Given the description of an element on the screen output the (x, y) to click on. 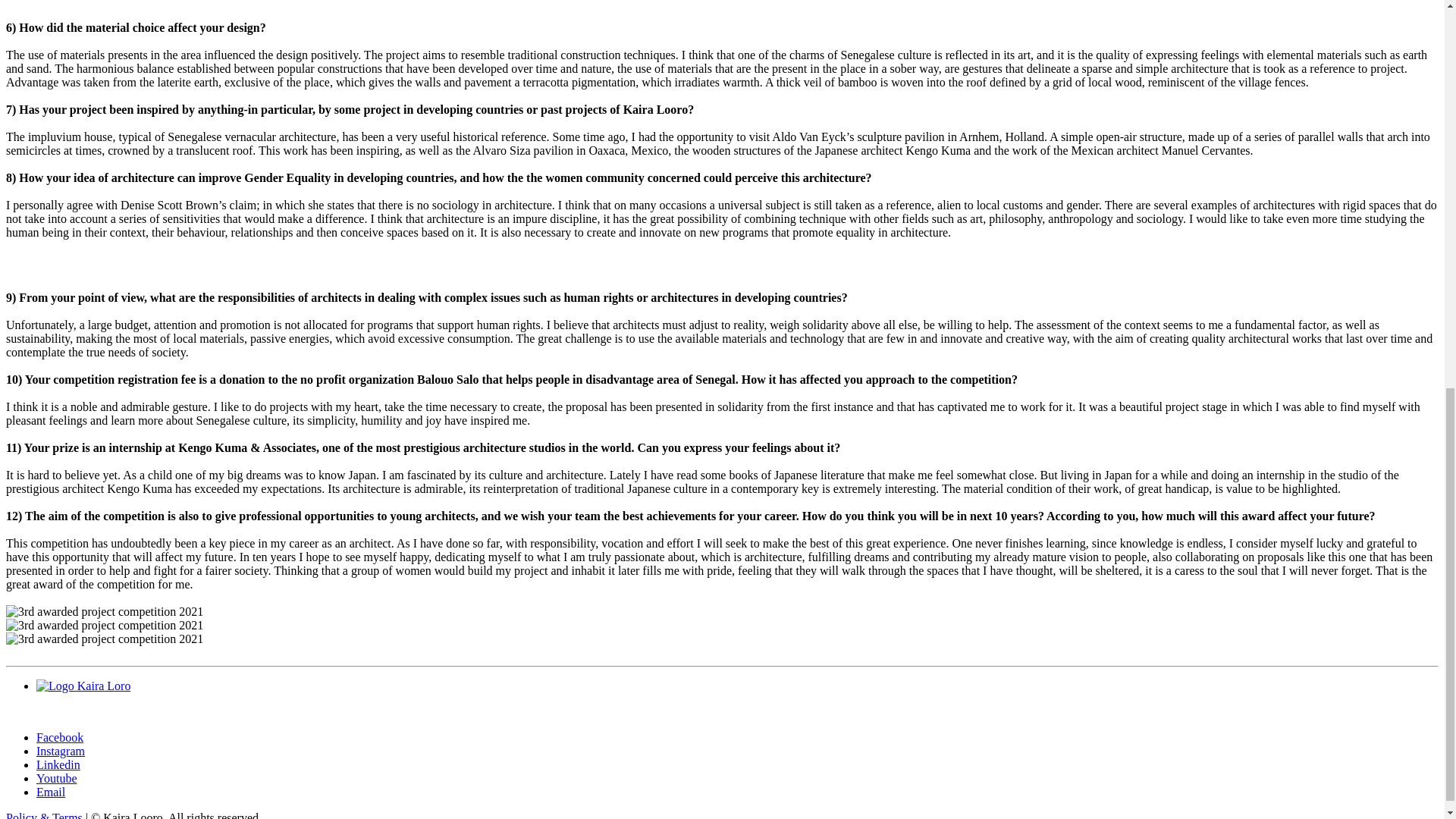
Facebook (59, 737)
Instagram (60, 750)
Email (50, 791)
Youtube (56, 778)
Linkedin (58, 764)
